Given the description of an element on the screen output the (x, y) to click on. 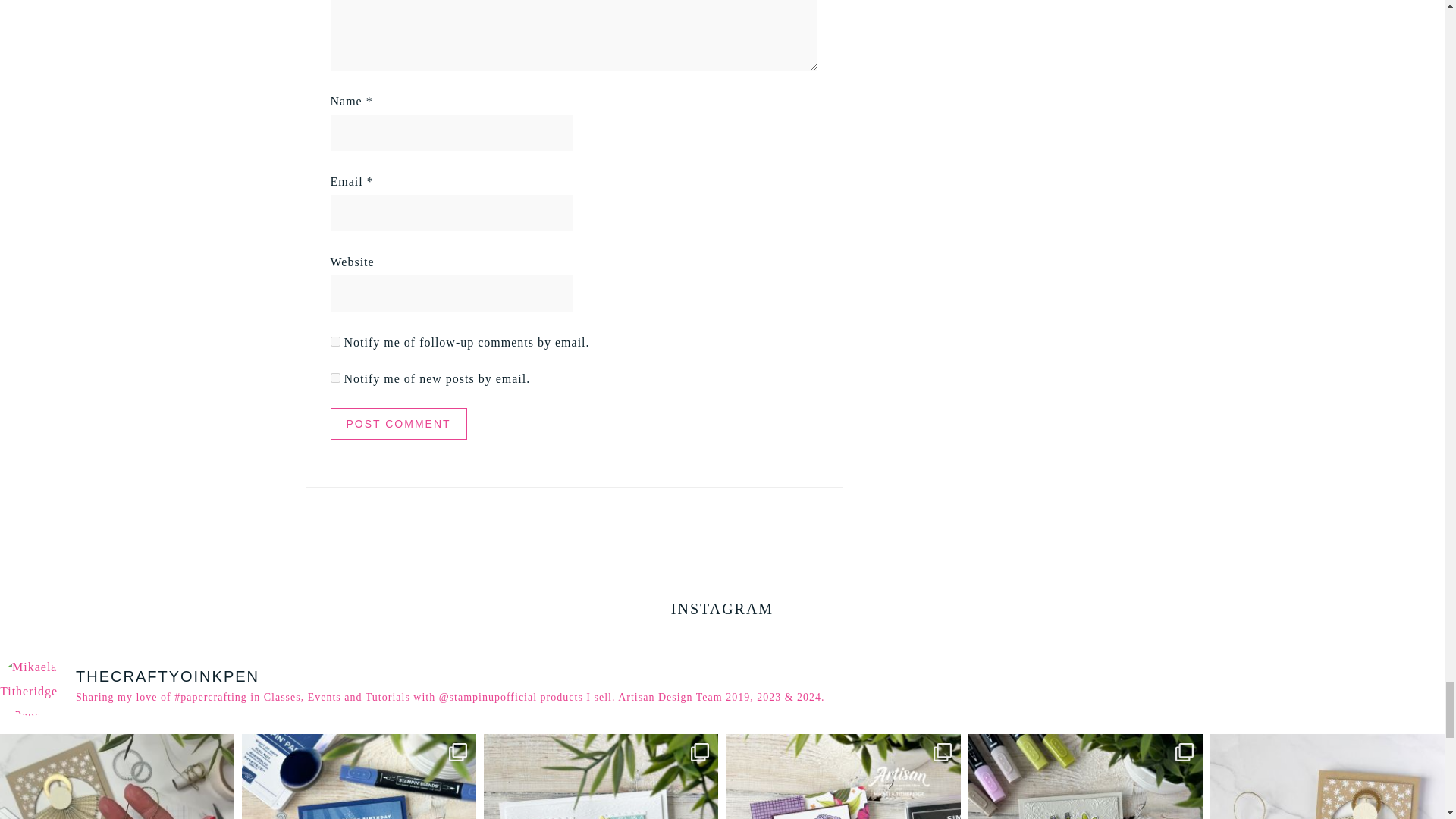
Post Comment (398, 423)
subscribe (335, 341)
subscribe (335, 378)
